Given the description of an element on the screen output the (x, y) to click on. 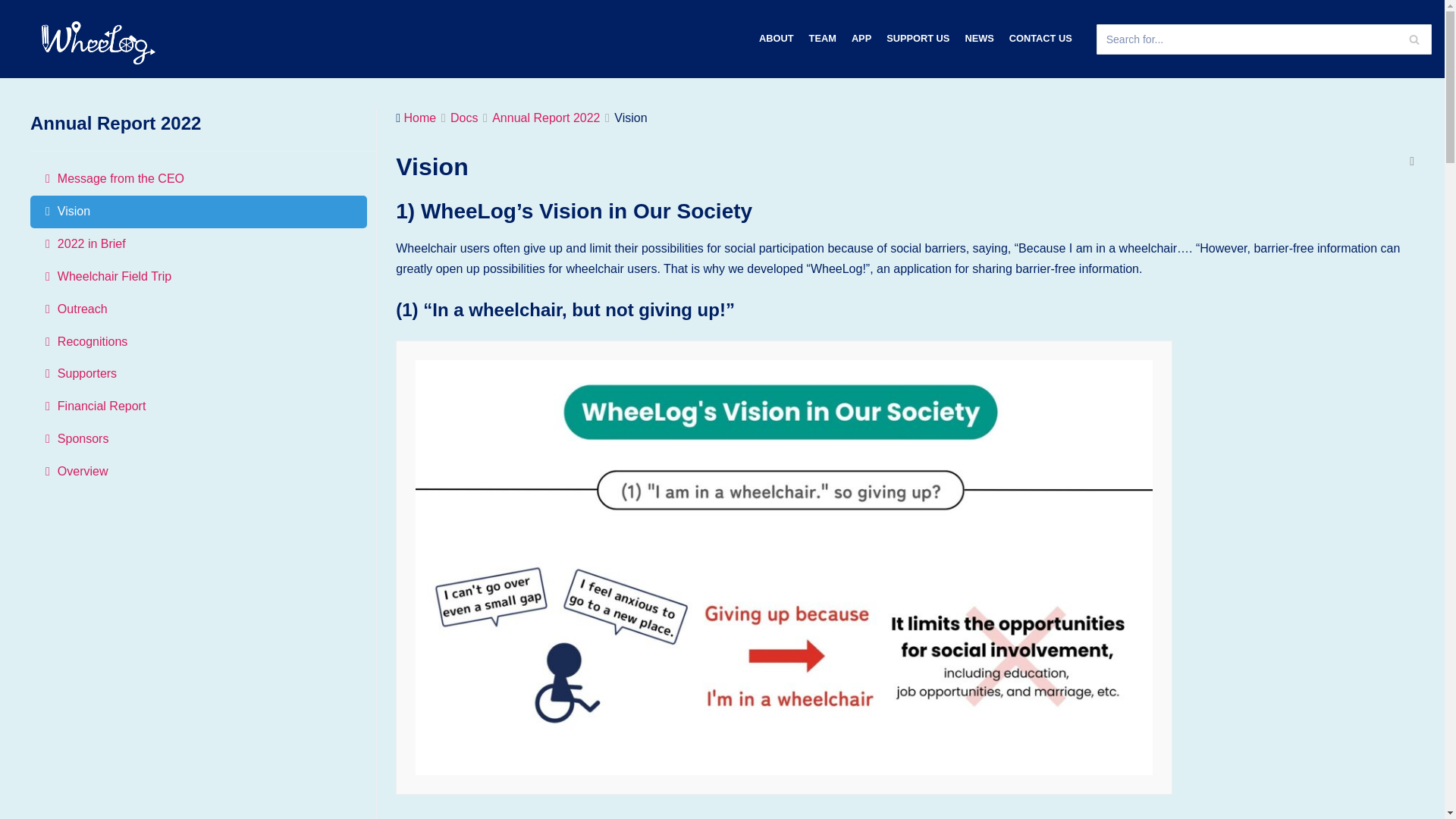
CONTACT US (1040, 38)
Docs (463, 117)
Skip to content (15, 7)
Recognitions (198, 341)
Home (420, 117)
ABOUT (775, 38)
Sponsors (198, 439)
Supporters (198, 373)
TEAM (822, 38)
Wheelchair Field Trip (198, 277)
NEWS (977, 38)
2022 in Brief (198, 244)
Message from the CEO (198, 178)
Financial Report (198, 406)
Overview (198, 471)
